Given the description of an element on the screen output the (x, y) to click on. 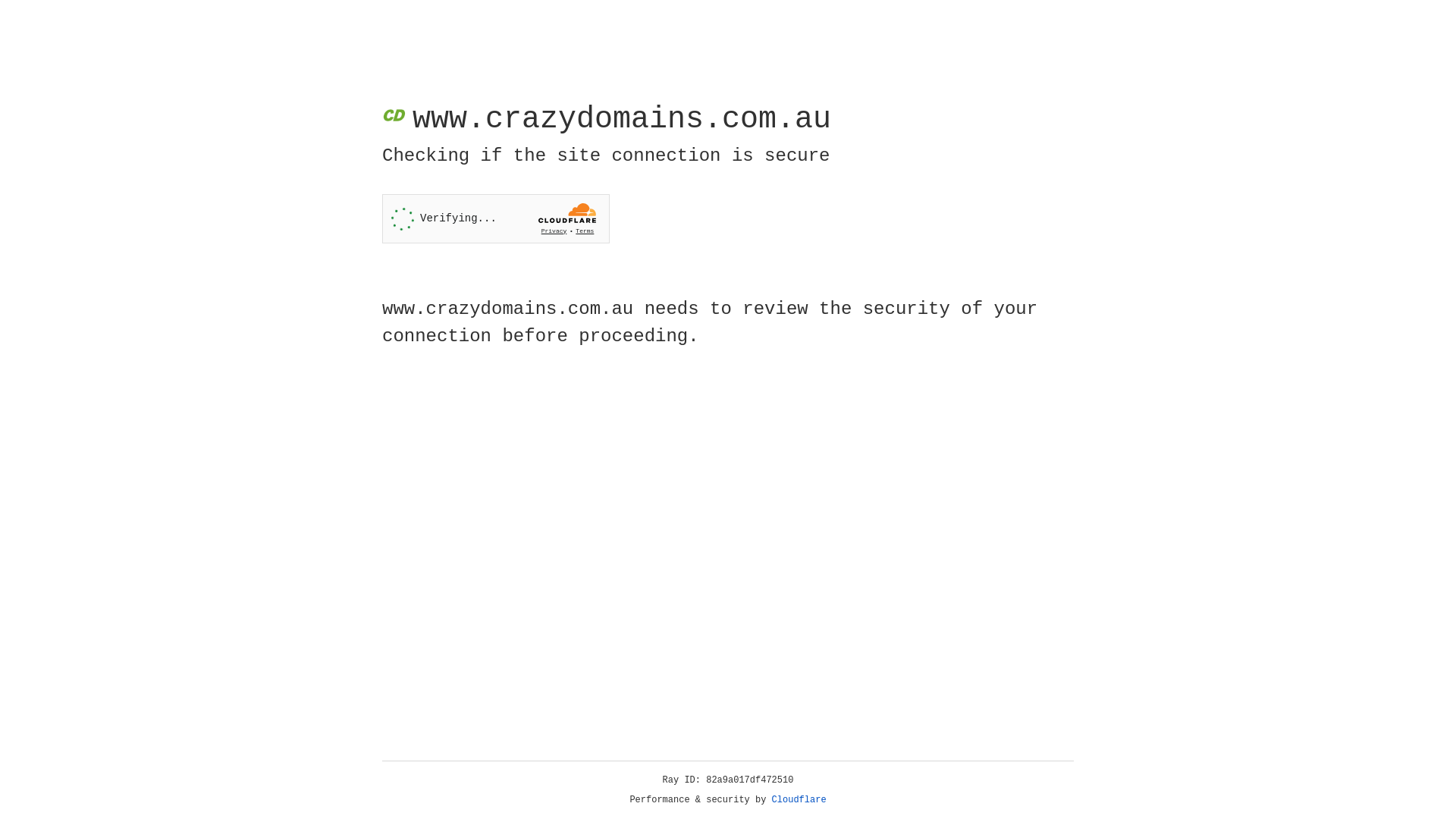
Cloudflare Element type: text (798, 799)
Widget containing a Cloudflare security challenge Element type: hover (495, 218)
